Given the description of an element on the screen output the (x, y) to click on. 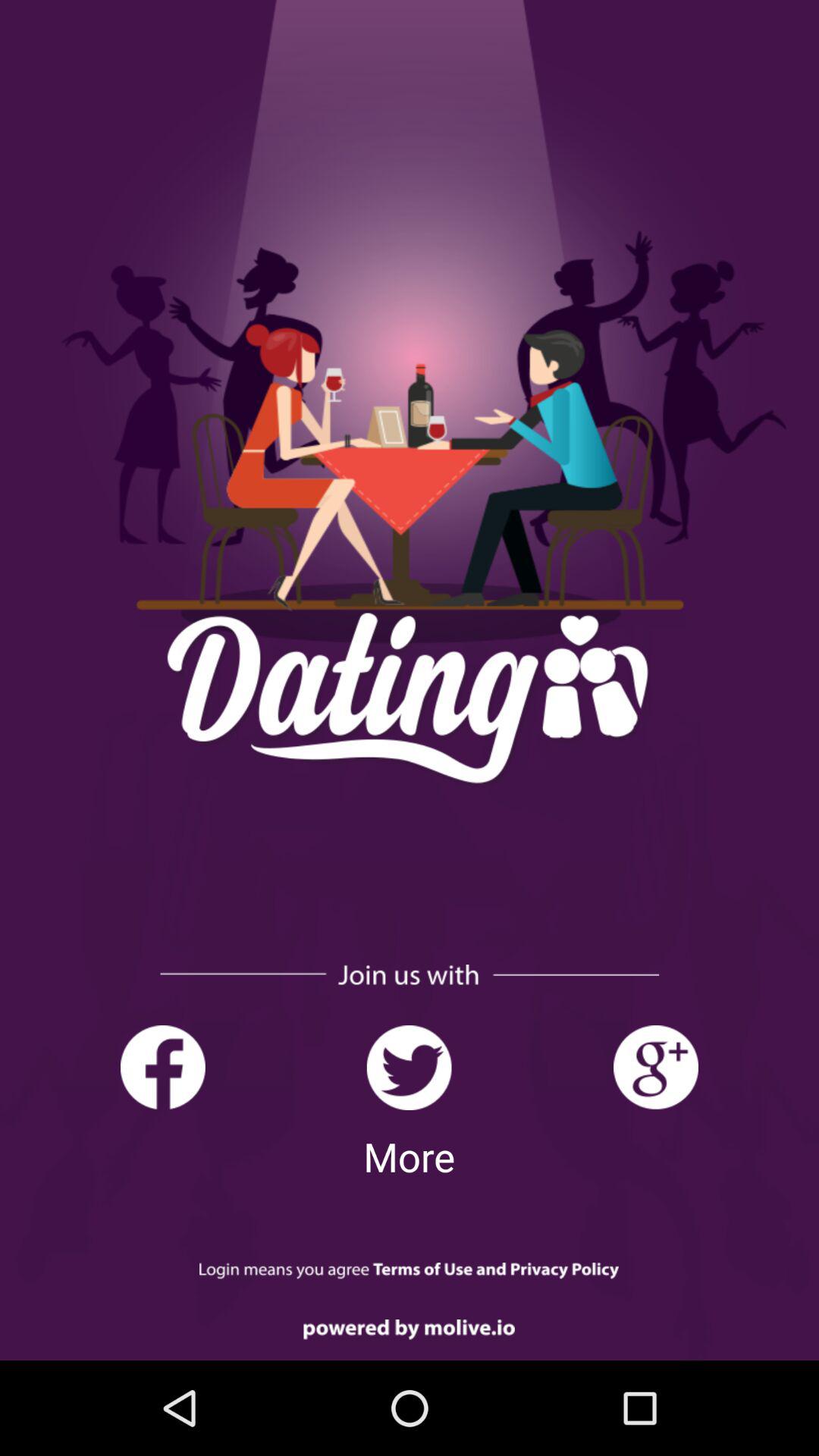
authenticate using google (655, 1067)
